Given the description of an element on the screen output the (x, y) to click on. 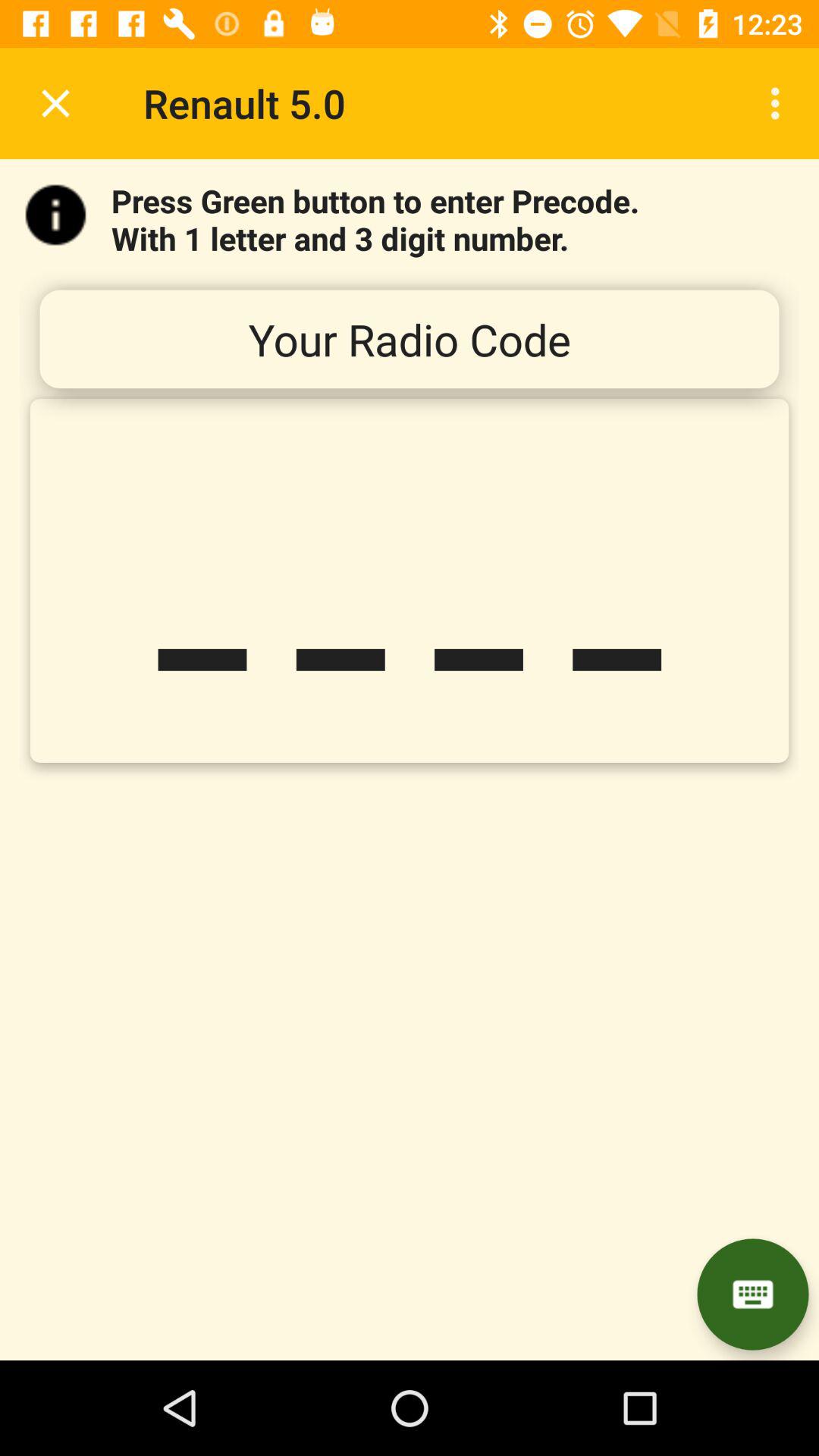
choose item at the top right corner (779, 103)
